Given the description of an element on the screen output the (x, y) to click on. 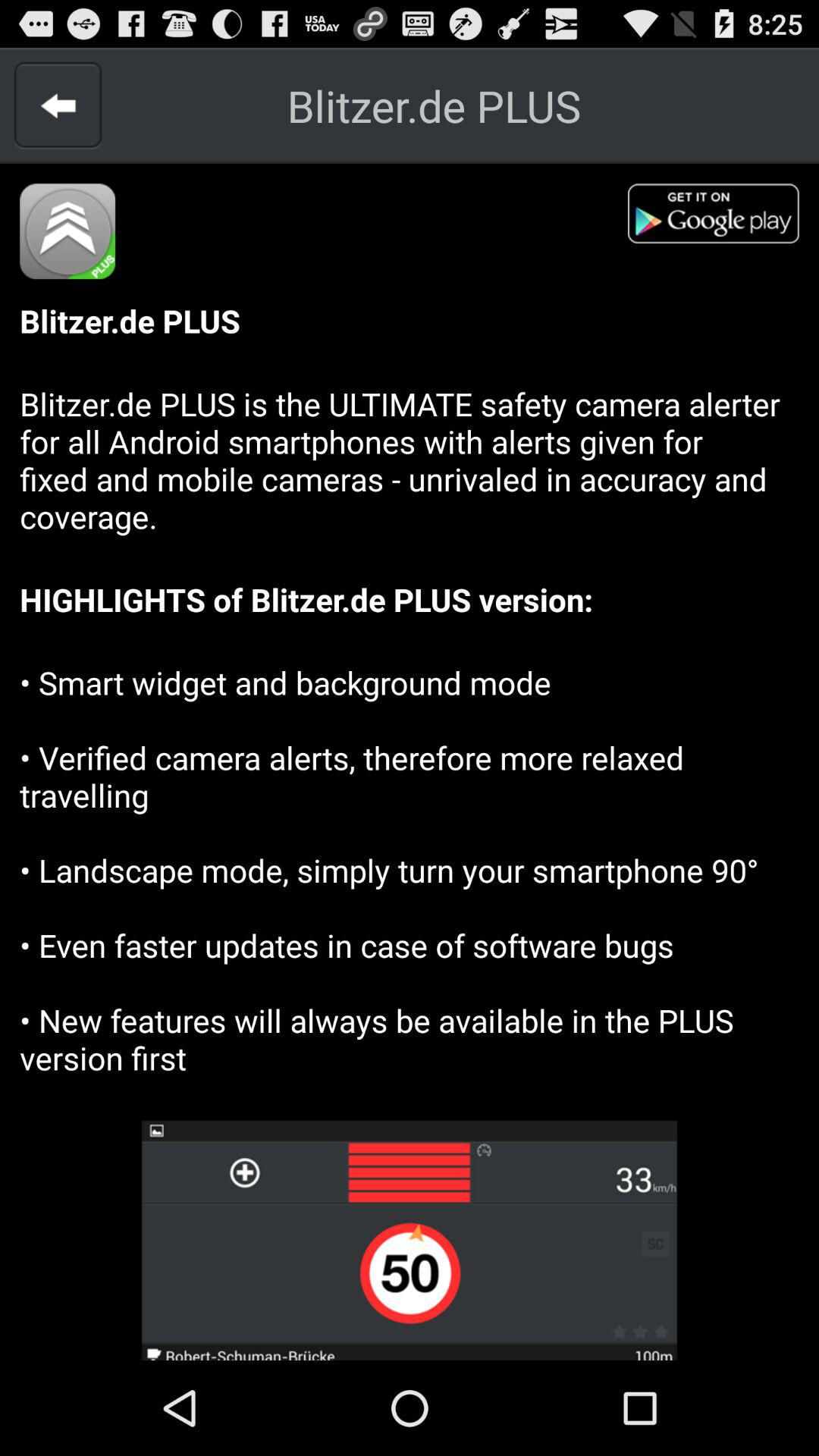
go to previous (57, 105)
